Given the description of an element on the screen output the (x, y) to click on. 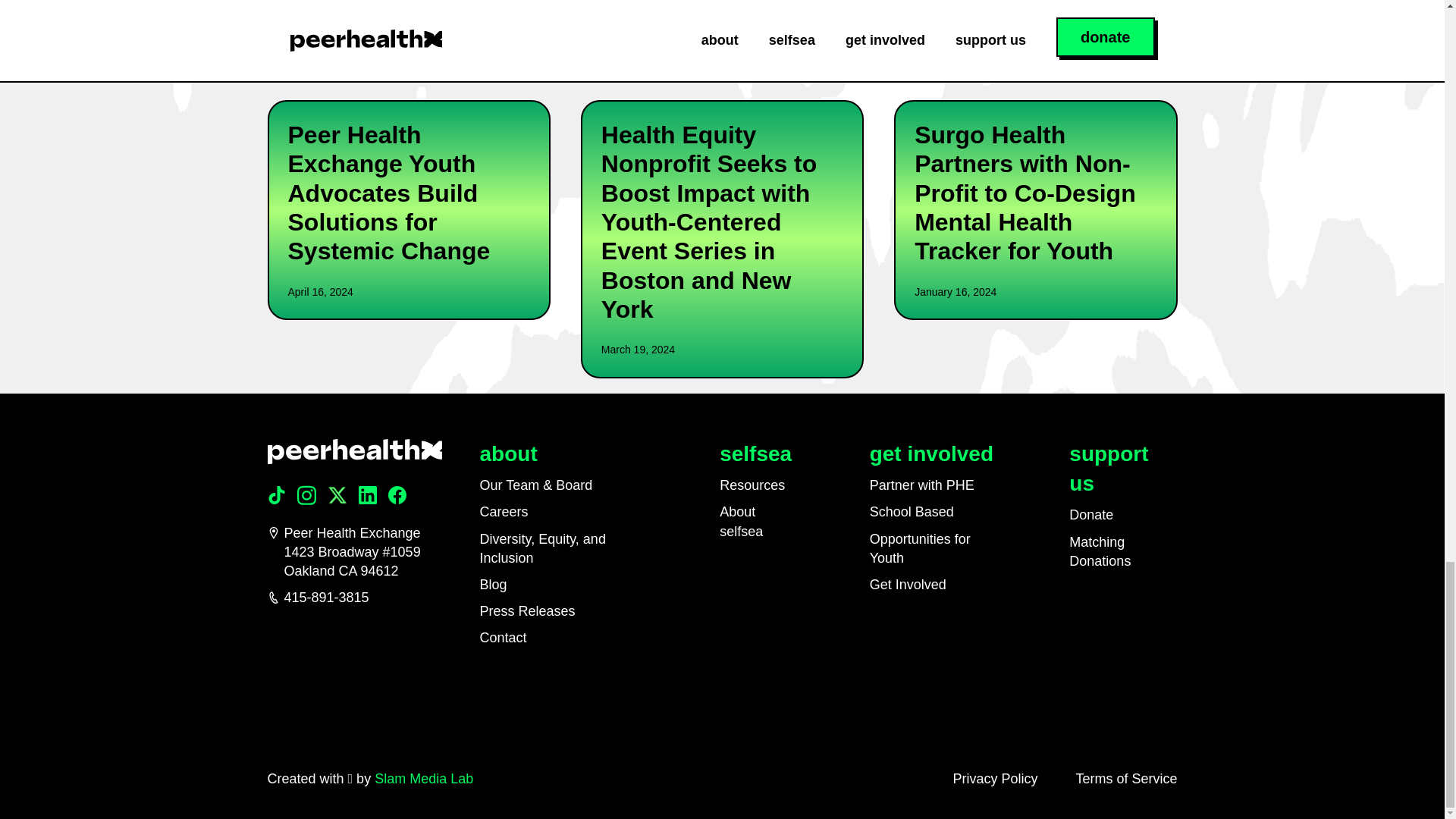
about (508, 453)
415-891-3815 (353, 597)
